Given the description of an element on the screen output the (x, y) to click on. 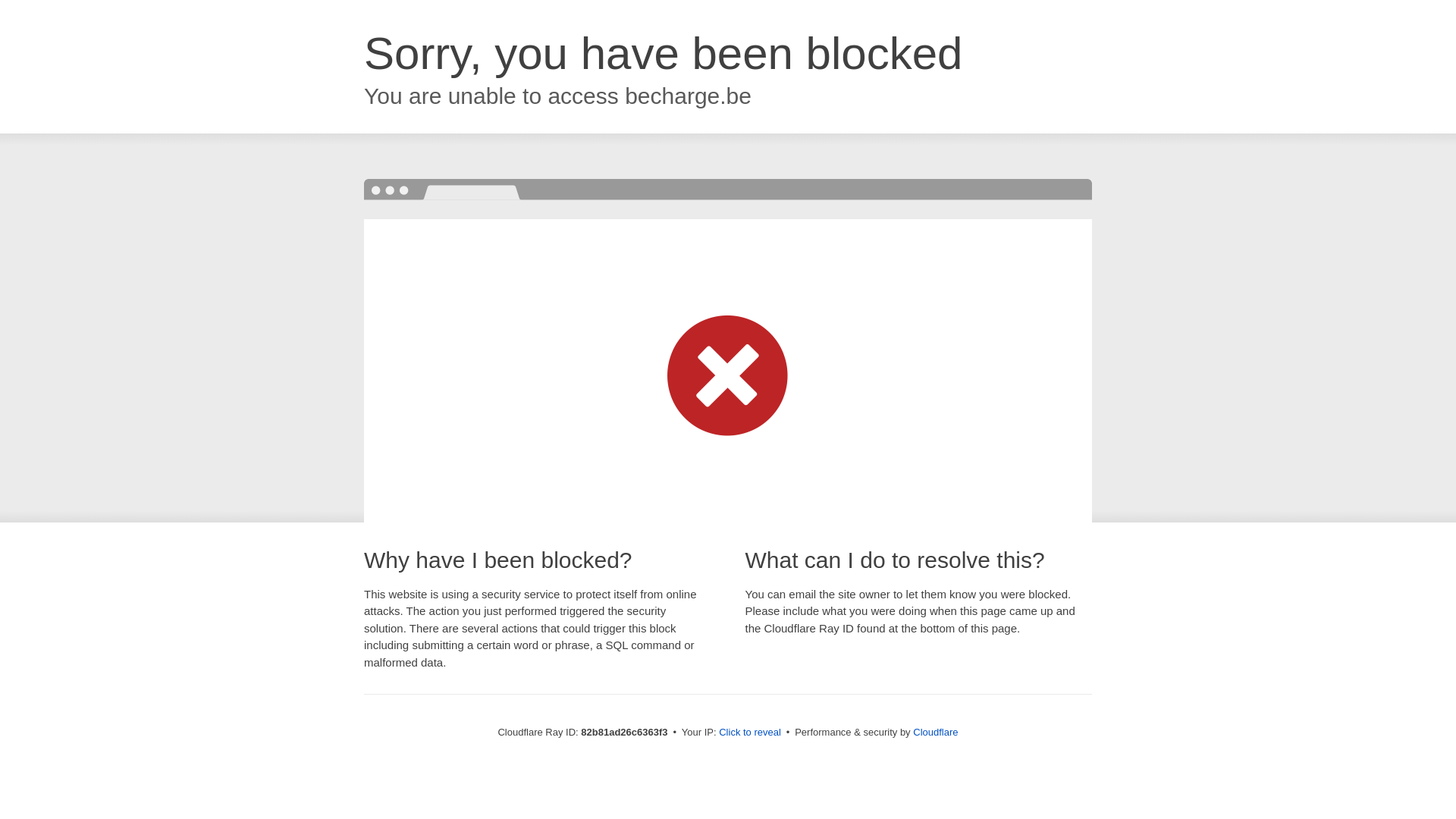
Click to reveal Element type: text (749, 732)
Cloudflare Element type: text (935, 731)
